Given the description of an element on the screen output the (x, y) to click on. 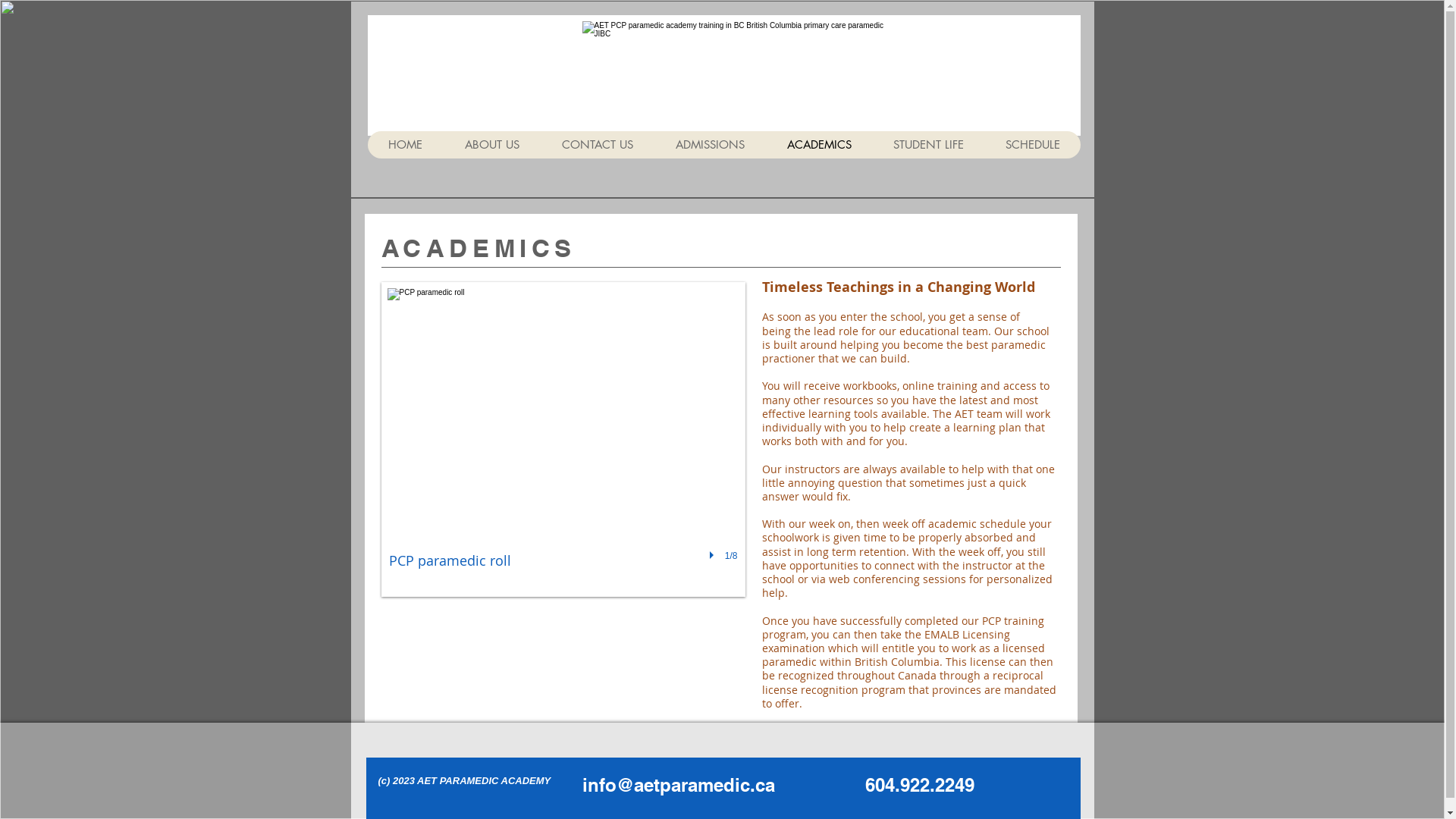
ABOUT US Element type: text (490, 144)
HOME Element type: text (404, 144)
PCP Paramedic.png Element type: hover (736, 70)
ACADEMICS Element type: text (818, 144)
CONTACT US Element type: text (596, 144)
STUDENT LIFE Element type: text (928, 144)
info@aetparamedic.ca Element type: text (678, 784)
ADMISSIONS Element type: text (709, 144)
SCHEDULE Element type: text (1032, 144)
